Given the description of an element on the screen output the (x, y) to click on. 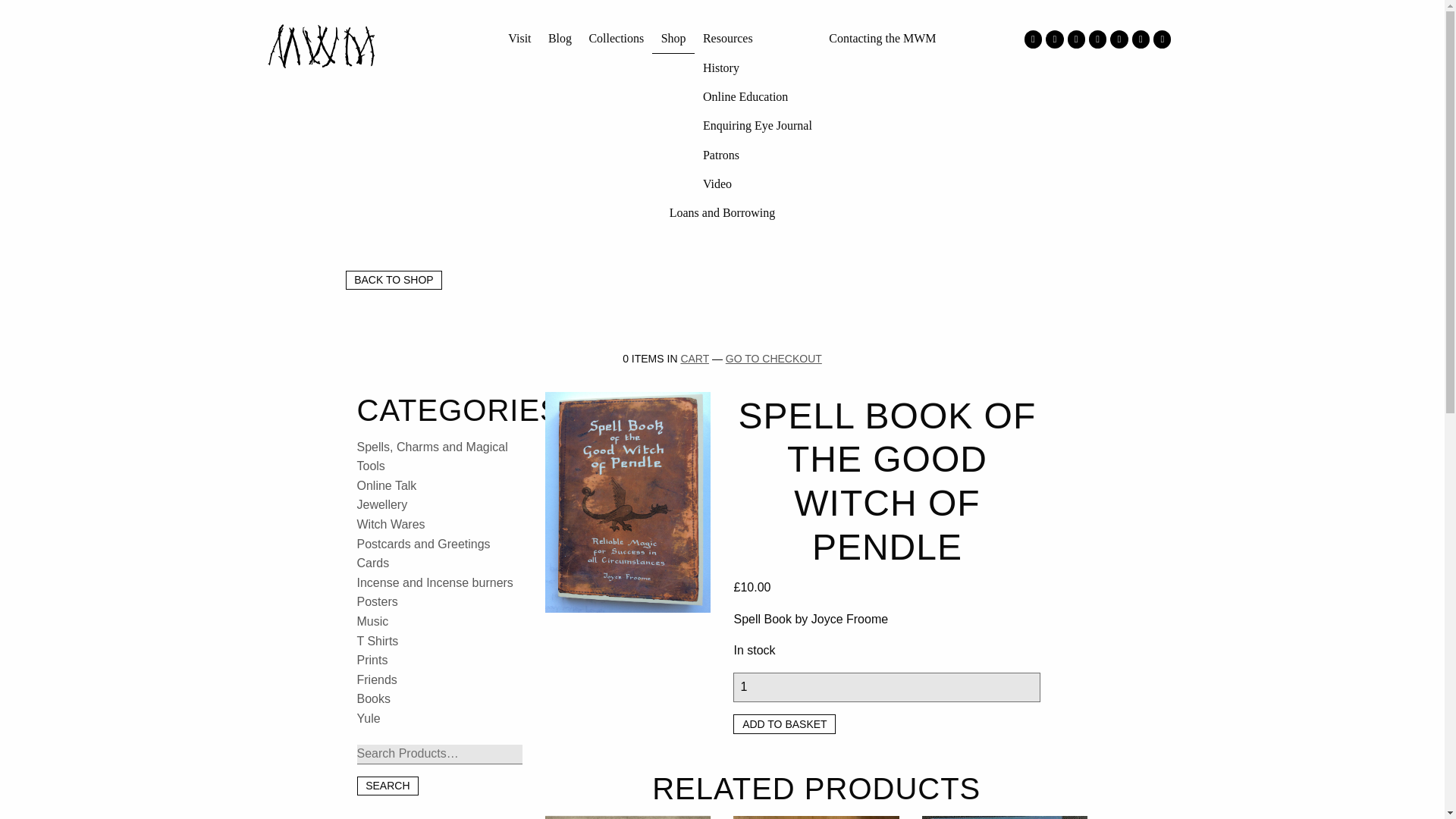
Online Education (757, 96)
Enquiring Eye Journal (757, 125)
GO TO CHECKOUT (773, 358)
Shop (673, 39)
CART (694, 358)
Resources (757, 38)
Search for: (439, 754)
Blog (560, 38)
Video (757, 184)
Visit (519, 38)
Loans and Borrowing (722, 213)
Search (387, 786)
Museum of Witchcraft and Magic (320, 45)
1 (887, 686)
Collections (615, 38)
